Given the description of an element on the screen output the (x, y) to click on. 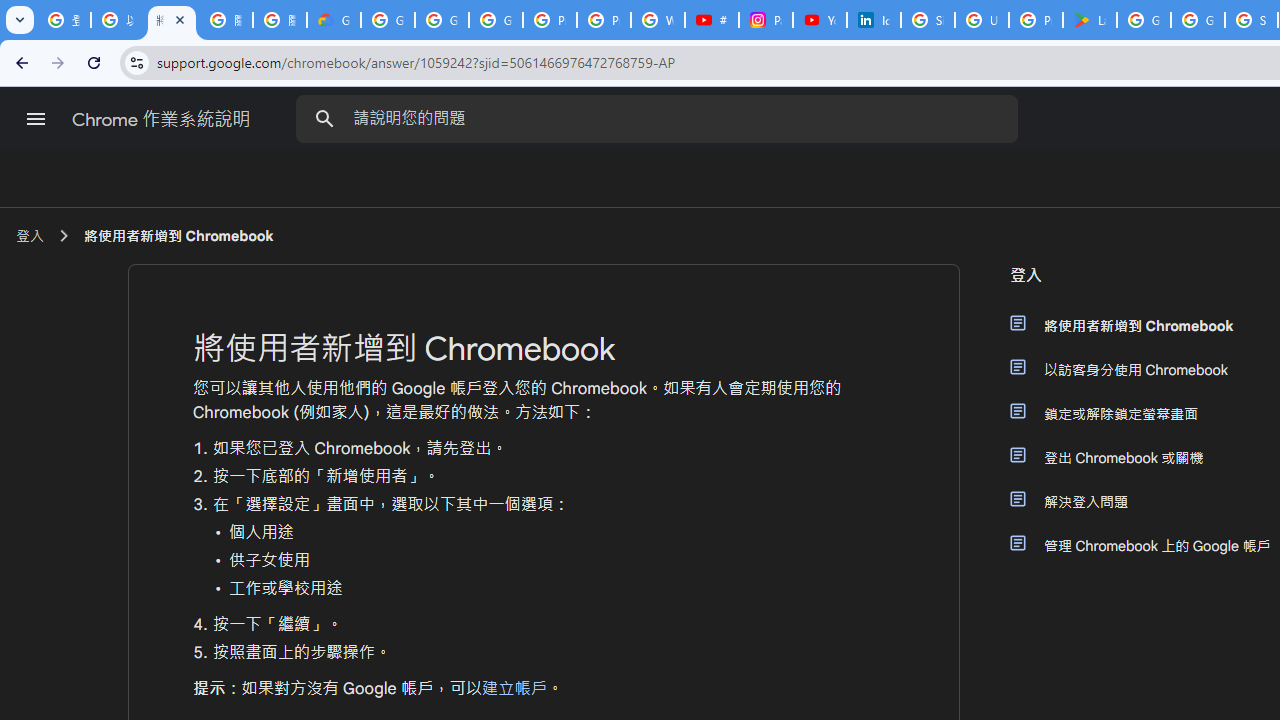
Google Workspace - Specific Terms (1197, 20)
Identity verification via Persona | LinkedIn Help (874, 20)
Privacy Help Center - Policies Help (604, 20)
View site information (136, 62)
Back (19, 62)
